Given the description of an element on the screen output the (x, y) to click on. 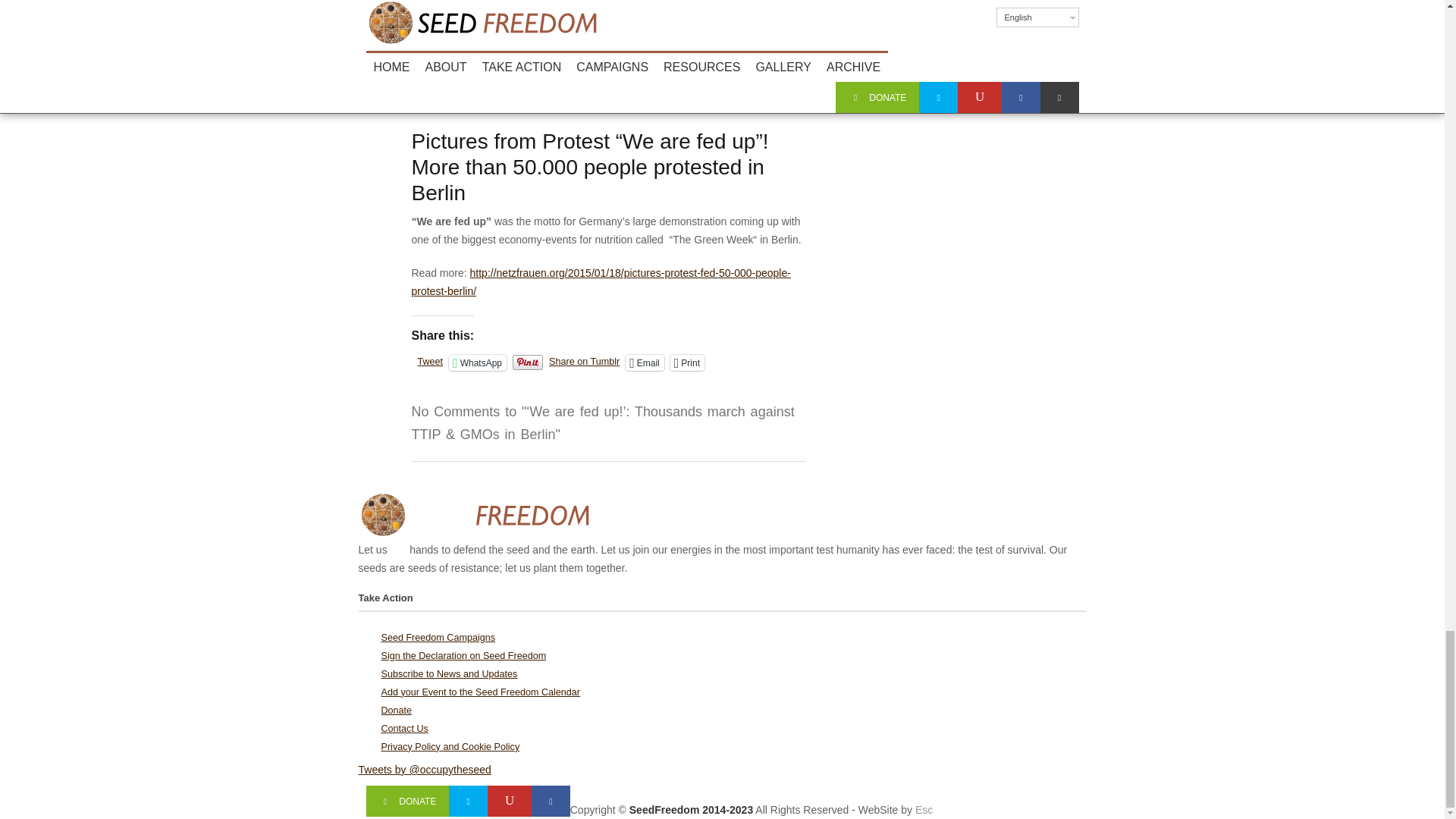
Click to email a link to a friend (644, 362)
Click to print (686, 362)
Share on Tumblr (584, 361)
Click to share on WhatsApp (477, 362)
